Given the description of an element on the screen output the (x, y) to click on. 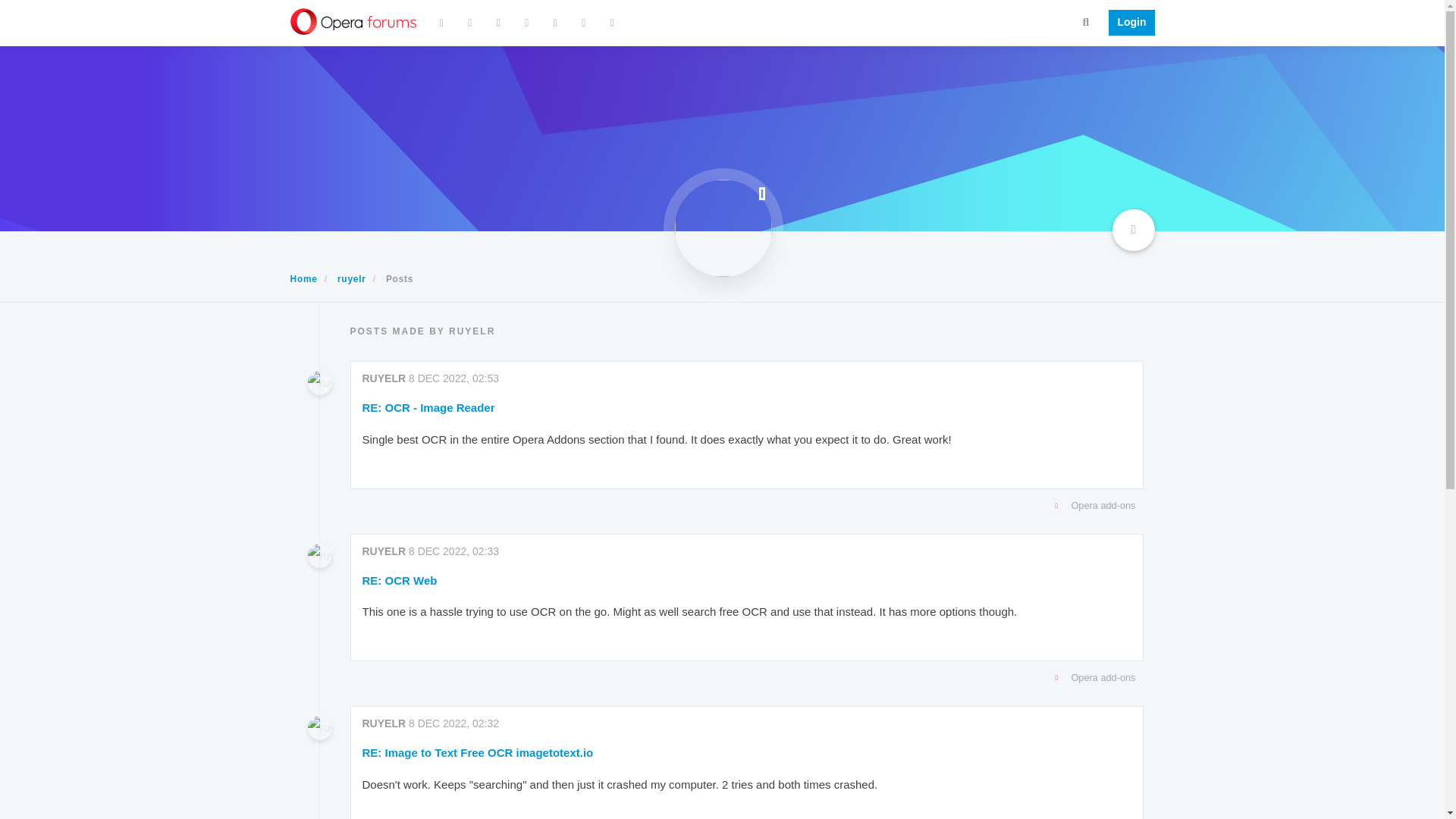
Home (303, 278)
Login (1127, 22)
RE: OCR - Image Reader (428, 407)
Opera add-ons (742, 505)
Search (1085, 21)
ruyelr (351, 278)
RUYELR (384, 378)
